Given the description of an element on the screen output the (x, y) to click on. 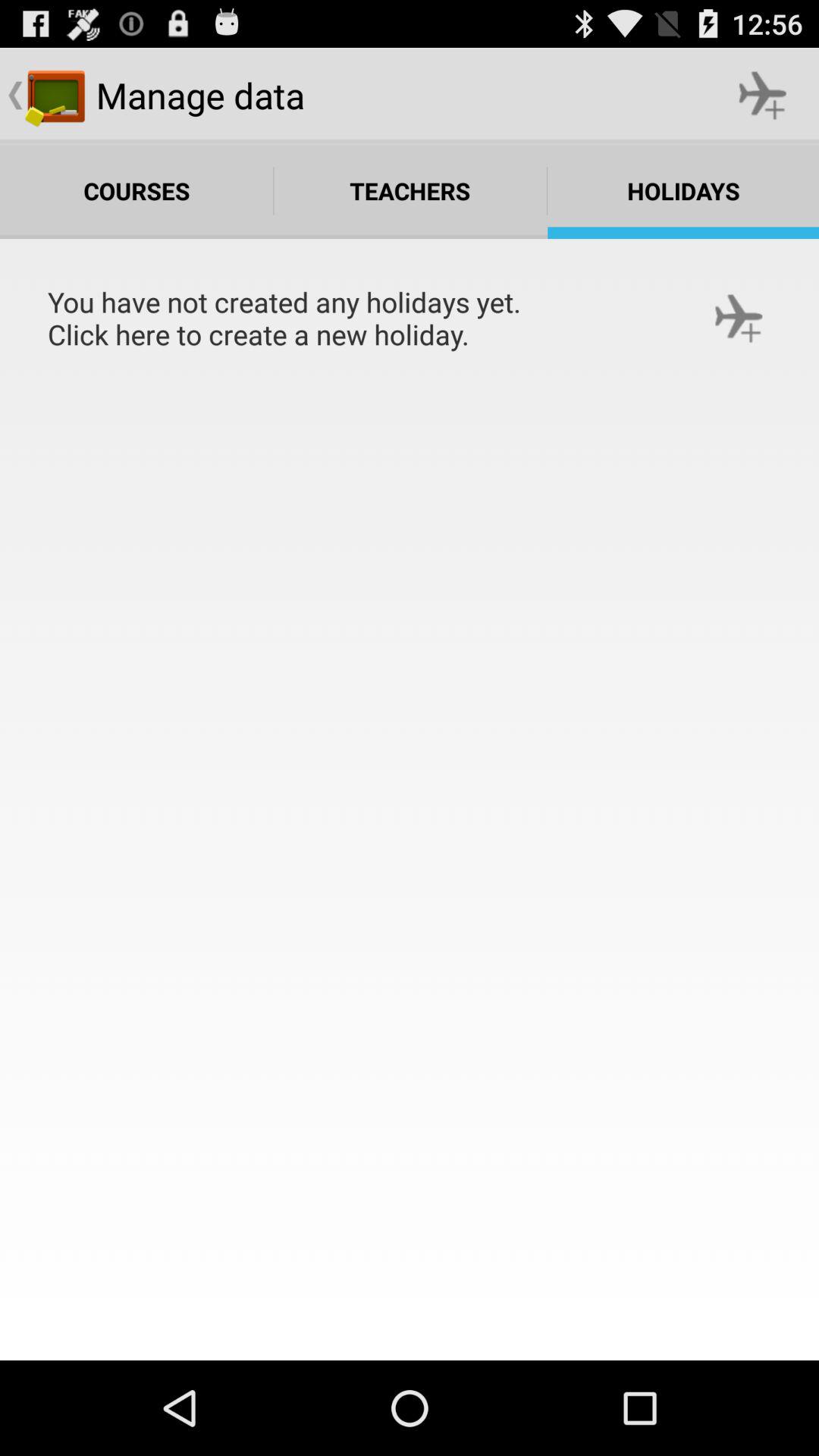
turn off app above holidays item (763, 95)
